Given the description of an element on the screen output the (x, y) to click on. 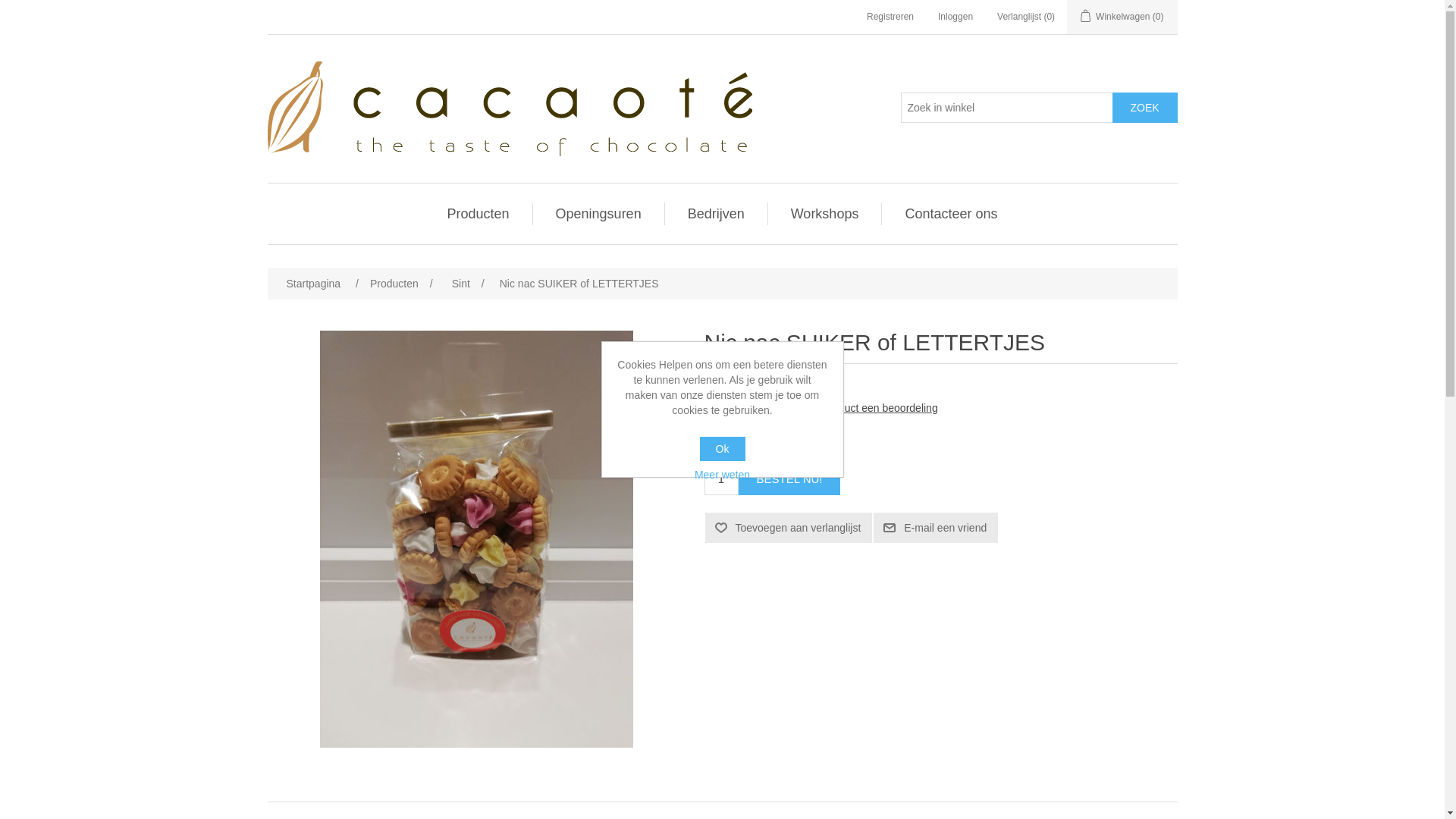
Contacteer ons Element type: text (950, 213)
Schrijf als eerste voor dit product een beoordeling Element type: text (820, 407)
Producten Element type: text (394, 283)
Sint Element type: text (460, 283)
Toevoegen aan verlanglijst Element type: text (788, 527)
Startpagina Element type: text (313, 283)
Openingsuren Element type: text (598, 213)
Bedrijven Element type: text (716, 213)
E-mail een vriend Element type: text (935, 527)
Afbeeldingen van Nic nac SUIKER of LETTERTJES Element type: hover (476, 538)
Winkelwagen (0) Element type: text (1121, 17)
Producten Element type: text (478, 213)
Workshops Element type: text (824, 213)
Registreren Element type: text (889, 17)
Bestel nu! Element type: text (789, 478)
Meer weten Element type: text (722, 474)
Ok Element type: text (721, 448)
Inloggen Element type: text (955, 17)
Zoek Element type: text (1143, 107)
Verlanglijst (0) Element type: text (1025, 17)
